Given the description of an element on the screen output the (x, y) to click on. 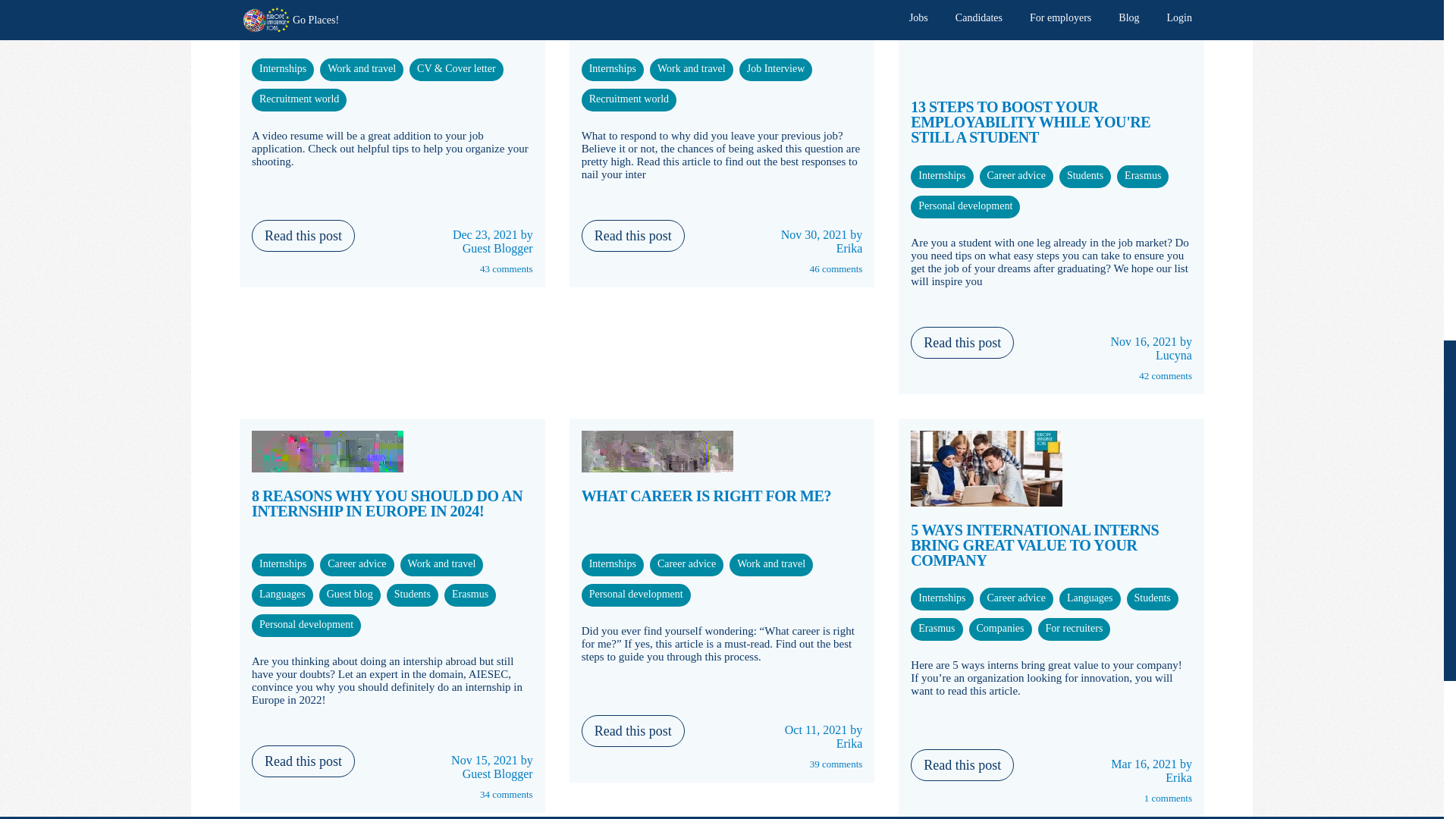
Career advice (361, 68)
Career advice (628, 98)
Career advice (775, 68)
Career advice (691, 68)
Career advice (299, 98)
Career advice (612, 68)
Career advice (456, 68)
Career advice (282, 68)
